Given the description of an element on the screen output the (x, y) to click on. 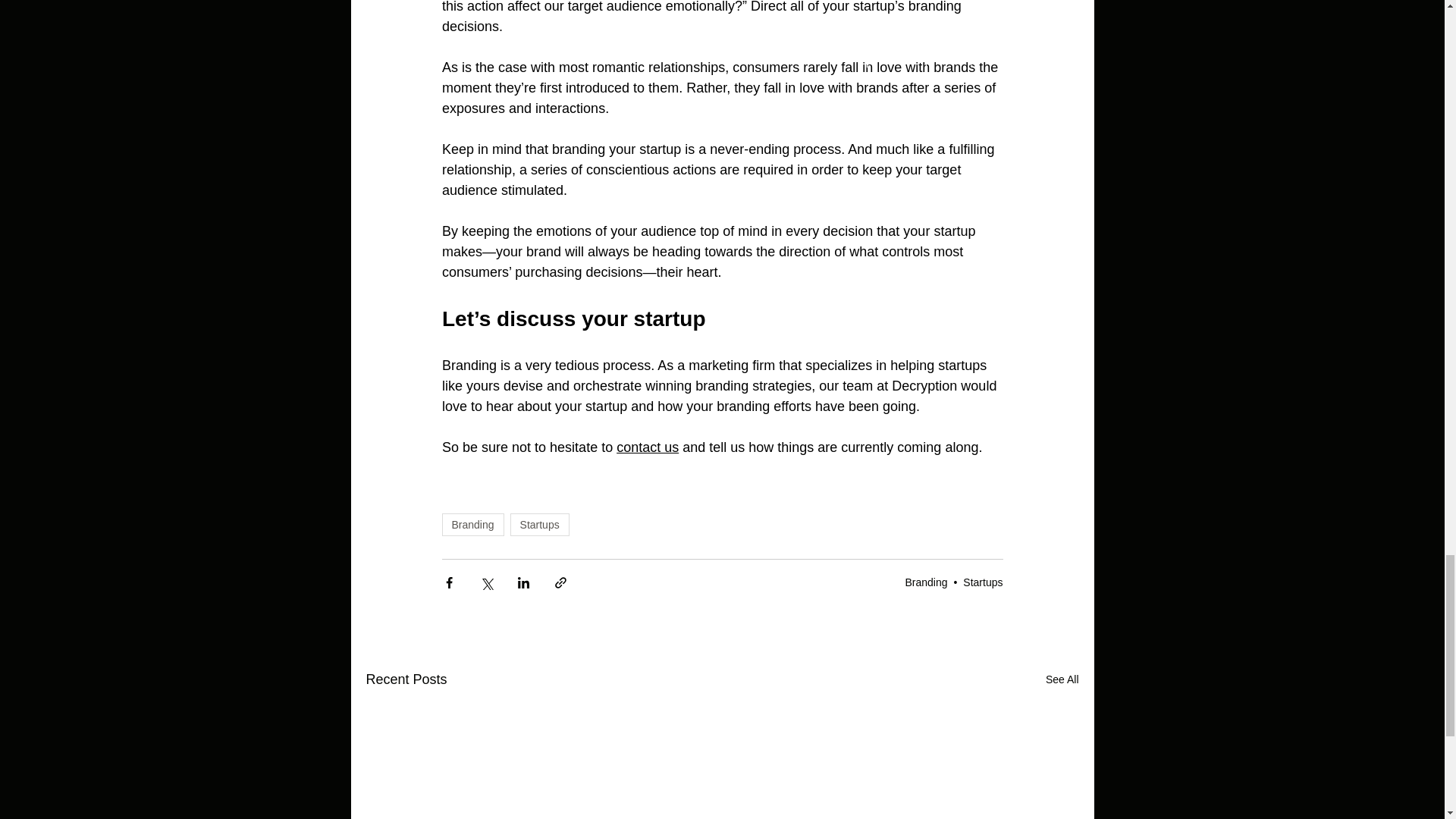
See All (1061, 680)
Startups (982, 582)
Branding (925, 582)
contact us (646, 447)
Startups (540, 524)
Branding (472, 524)
